Given the description of an element on the screen output the (x, y) to click on. 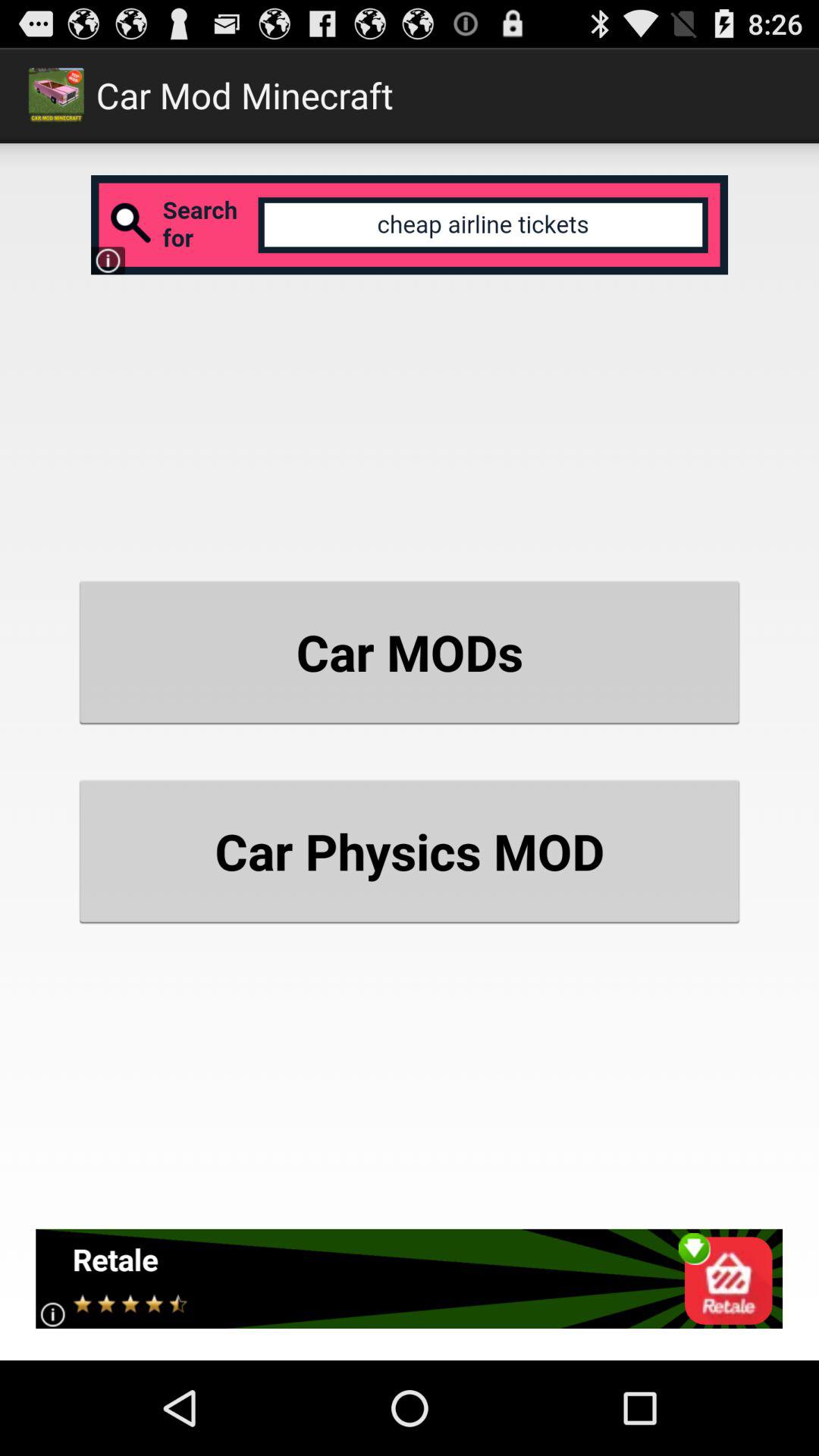
select button above the car physics mod (409, 651)
